Given the description of an element on the screen output the (x, y) to click on. 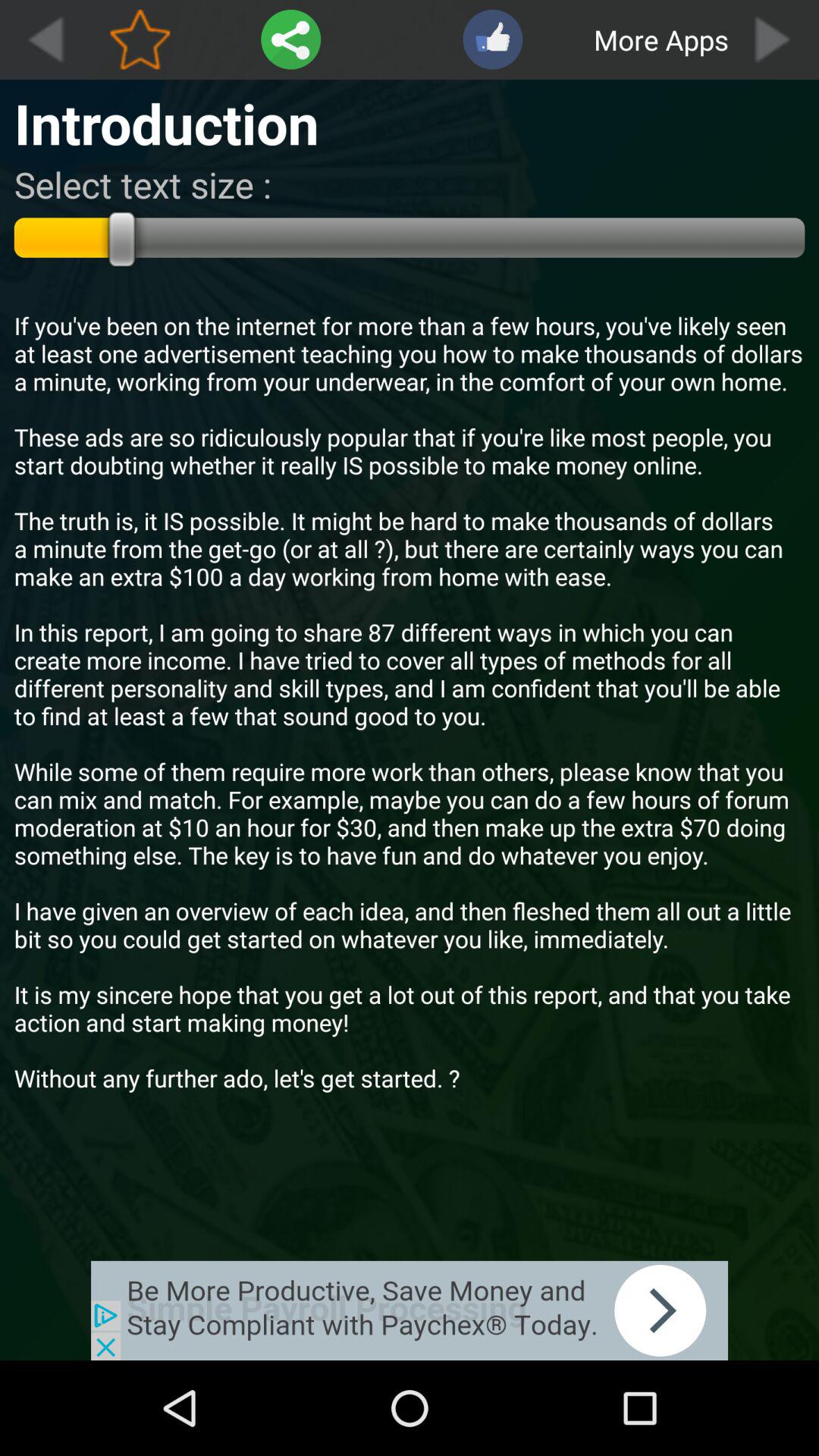
share article (290, 39)
